Given the description of an element on the screen output the (x, y) to click on. 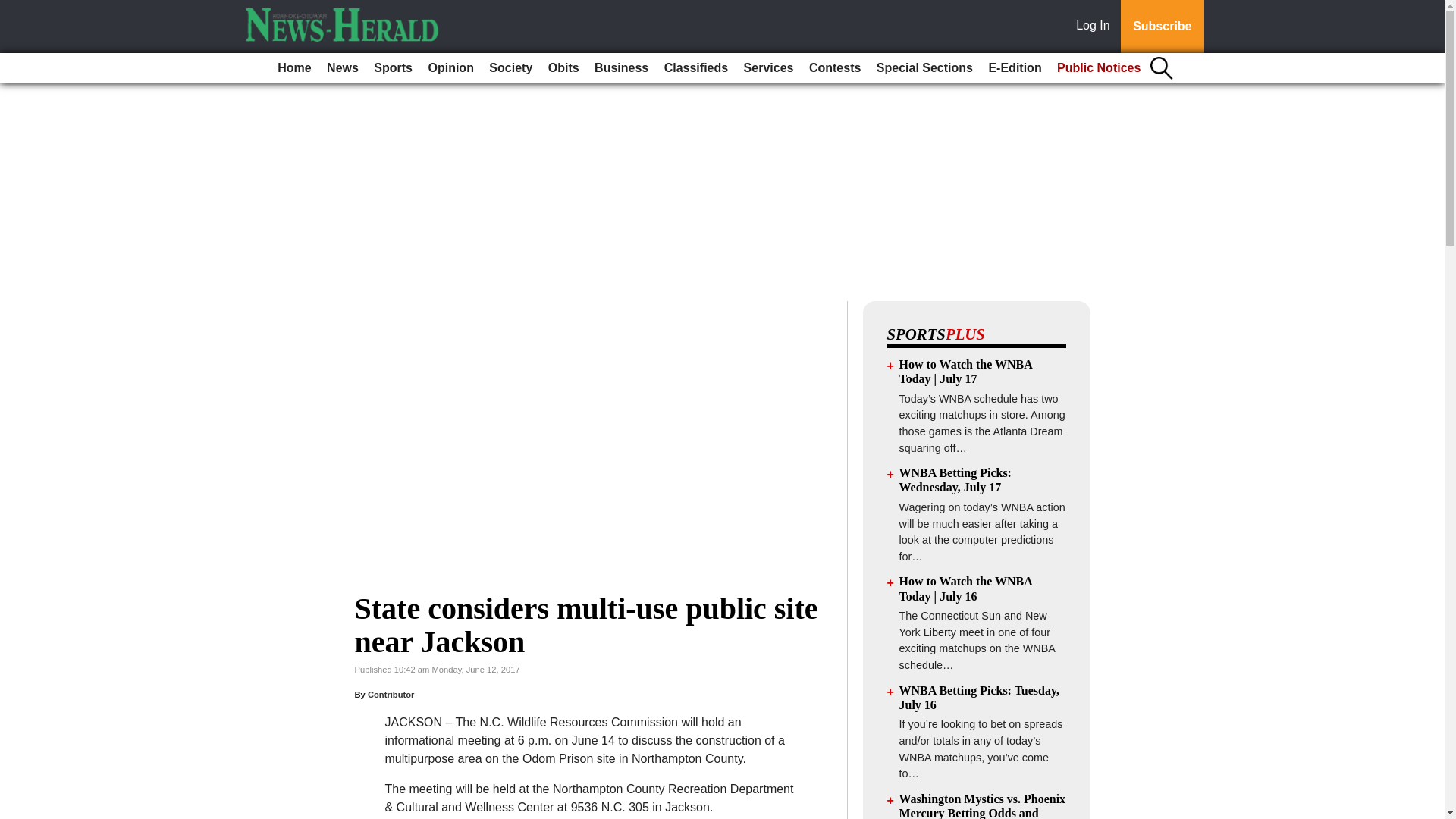
Contributor (391, 694)
Services (768, 68)
Go (13, 9)
Classifieds (695, 68)
Public Notices (1099, 68)
Subscribe (1162, 26)
Business (620, 68)
Obits (563, 68)
Home (293, 68)
Sports (393, 68)
E-Edition (1013, 68)
Special Sections (924, 68)
Opinion (450, 68)
Contests (834, 68)
Society (510, 68)
